Given the description of an element on the screen output the (x, y) to click on. 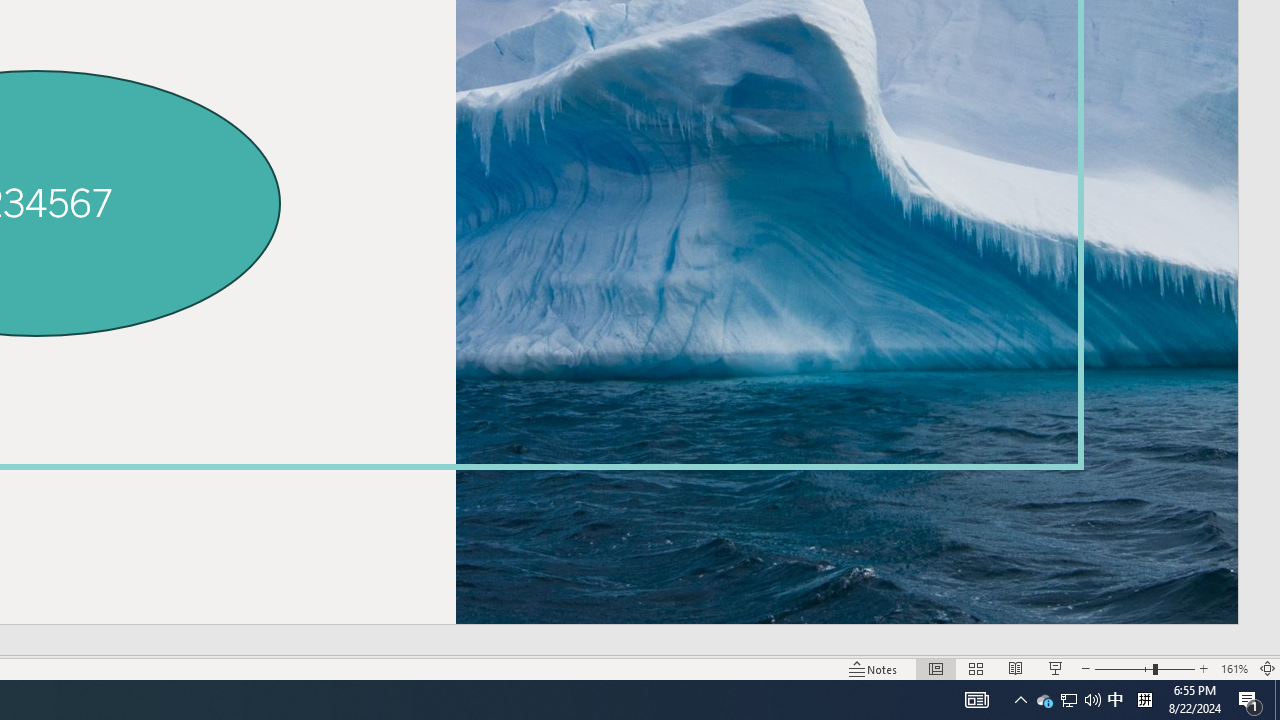
Zoom 161% (1234, 668)
